Given the description of an element on the screen output the (x, y) to click on. 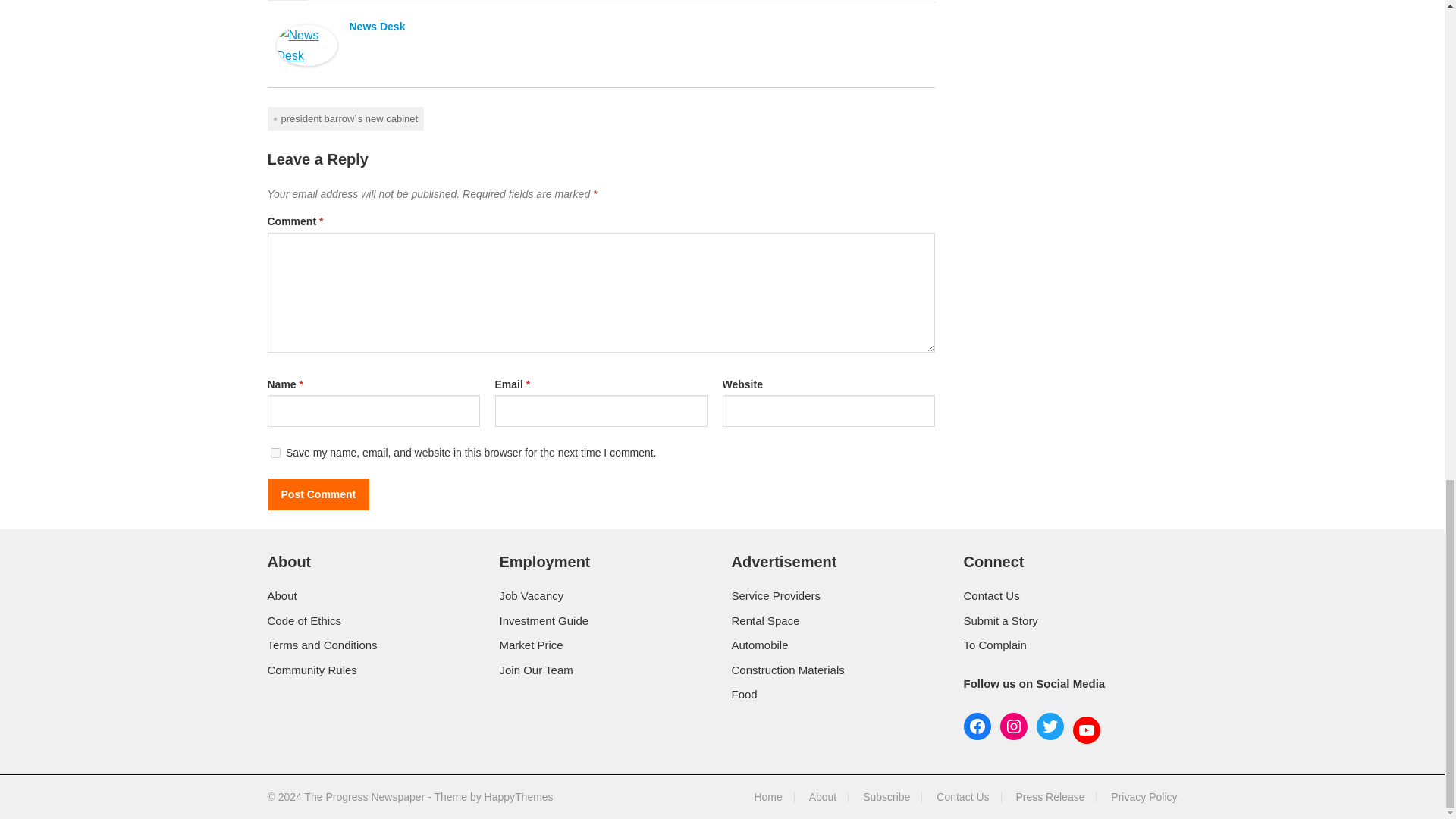
News Desk (306, 61)
Post Comment (317, 494)
yes (274, 452)
